Given the description of an element on the screen output the (x, y) to click on. 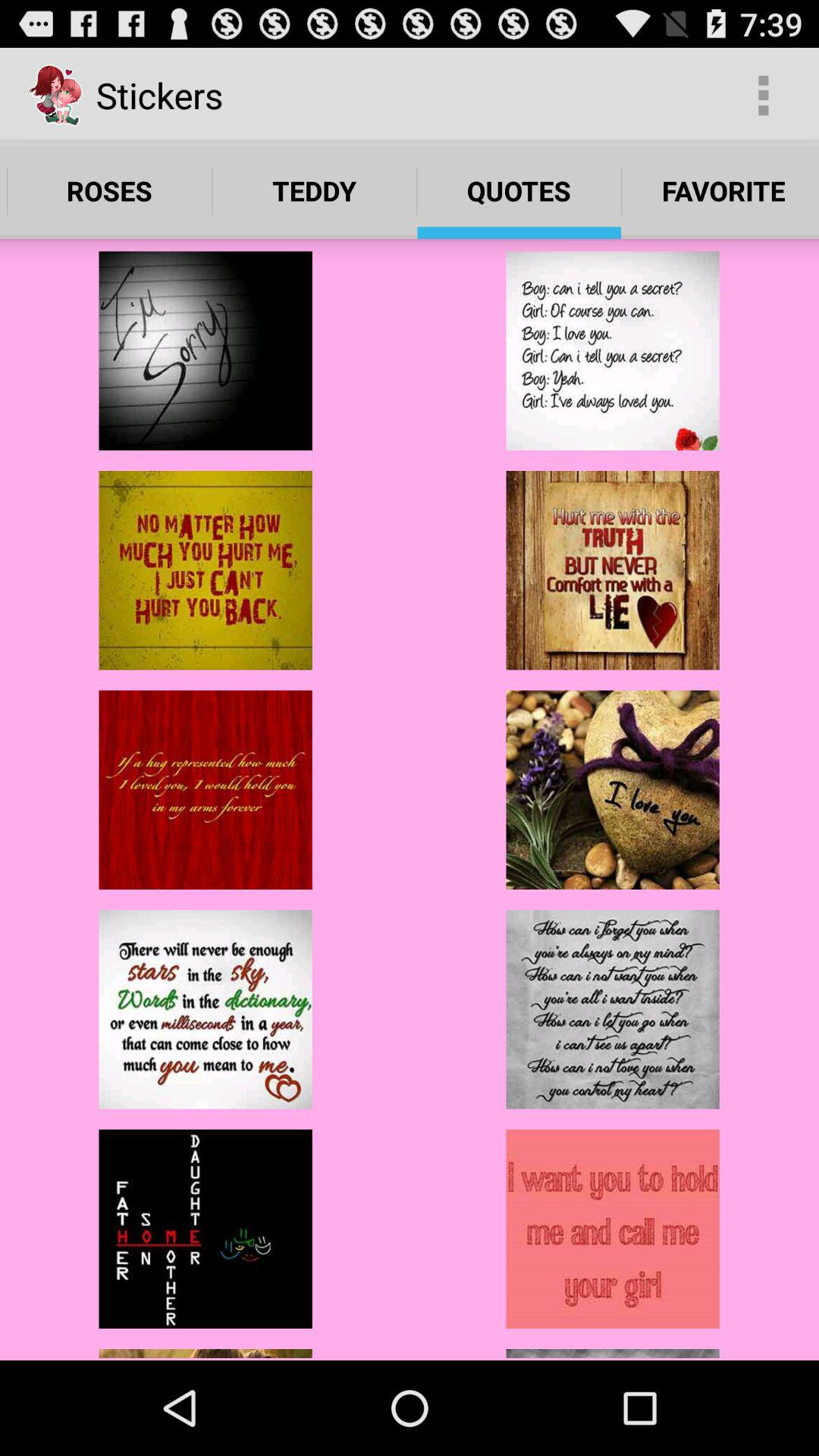
select the item to the right of the stickers icon (763, 95)
